Given the description of an element on the screen output the (x, y) to click on. 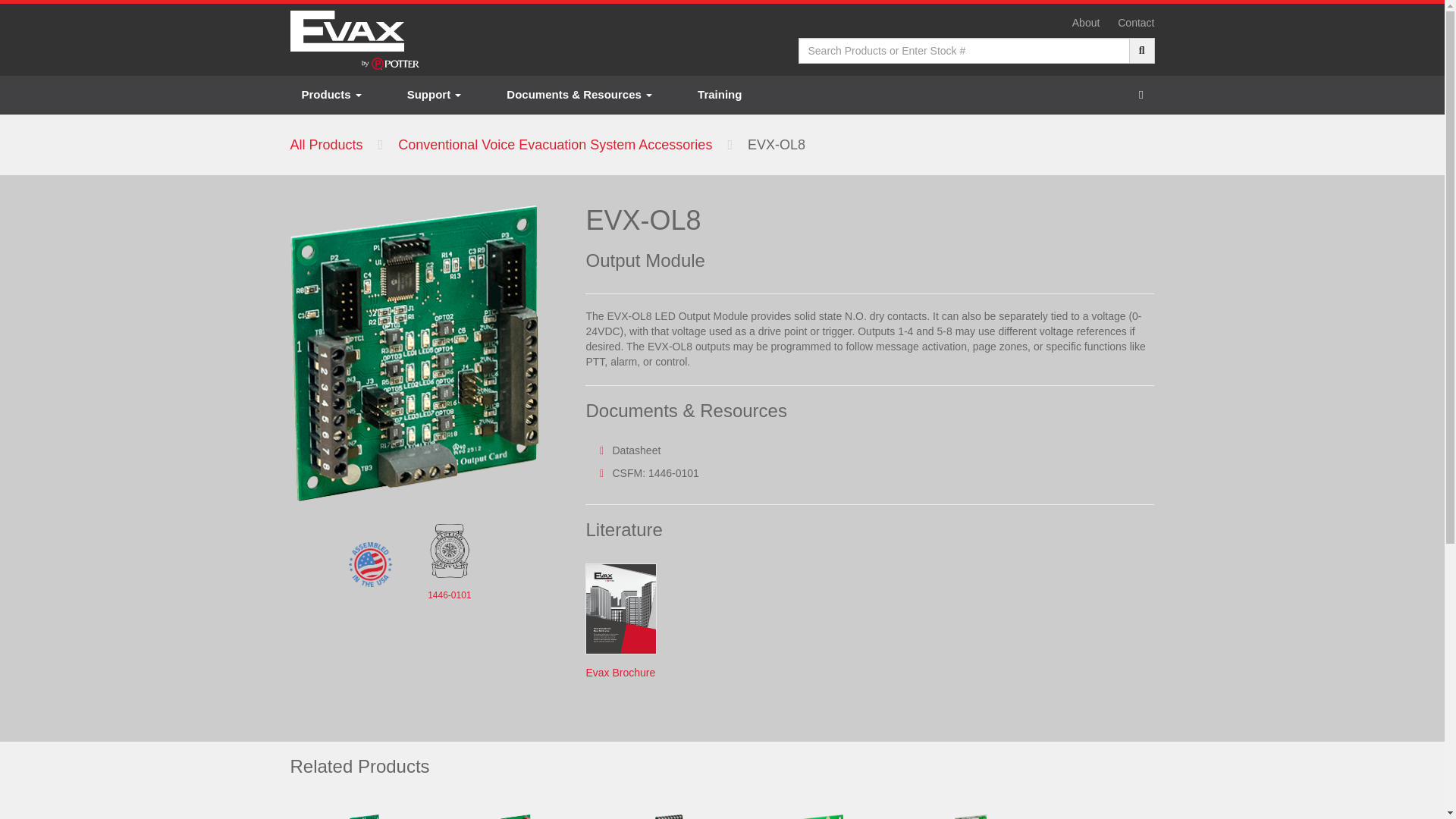
Datasheet (636, 450)
Conventional Voice Evacuation System Accessories (554, 144)
About (1085, 22)
CSFM: 1446-0101 (654, 472)
Contact (1136, 22)
Support (434, 94)
Products (331, 94)
All Products (325, 144)
1446-0101 (449, 594)
Training (719, 94)
Evax Brochure (620, 672)
